Given the description of an element on the screen output the (x, y) to click on. 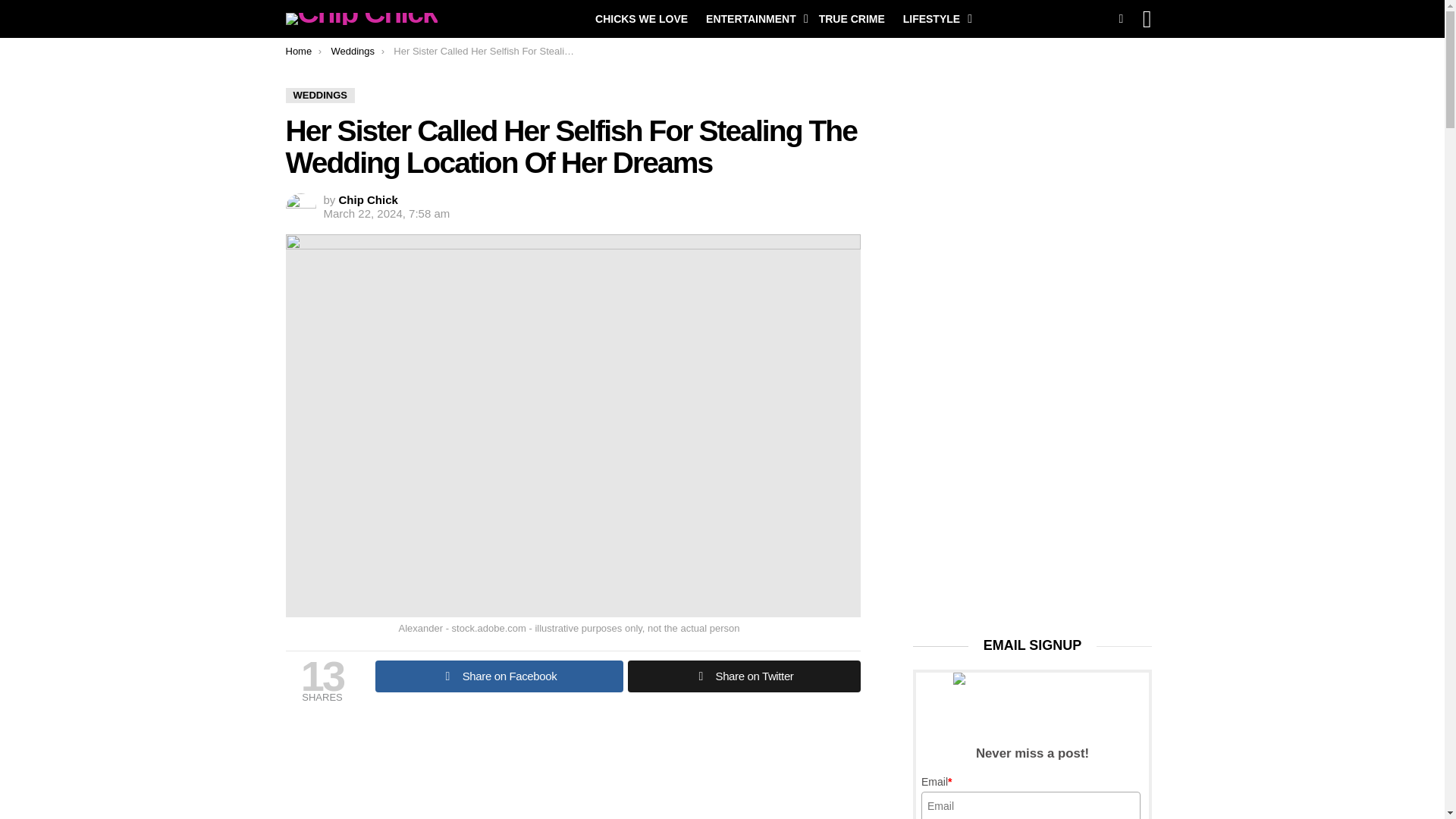
TRUE CRIME (851, 18)
Email (1030, 805)
CHICKS WE LOVE (641, 18)
SEARCH (1120, 18)
Share on Twitter (743, 676)
Weddings (352, 50)
ENTERTAINMENT (753, 18)
LOGIN (1146, 18)
LIFESTYLE (933, 18)
Required (949, 781)
Home (298, 50)
Posts by Chip Chick (368, 199)
Chip Chick (368, 199)
Share on Facebook (498, 676)
WEDDINGS (320, 95)
